Given the description of an element on the screen output the (x, y) to click on. 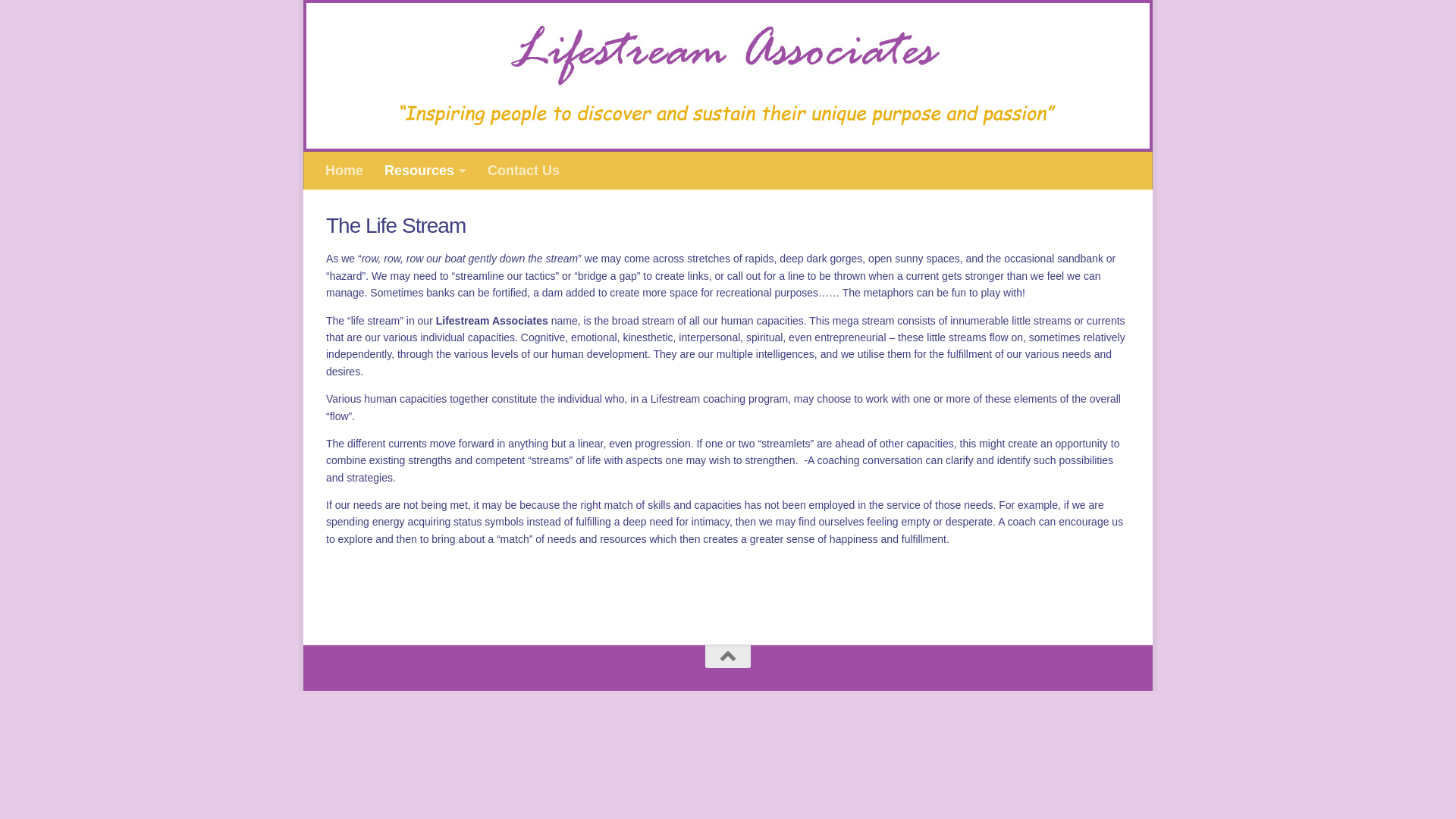
Home Element type: text (343, 170)
Resources Element type: text (424, 170)
Contact Us Element type: text (523, 170)
Skip to content Element type: text (367, 20)
